Given the description of an element on the screen output the (x, y) to click on. 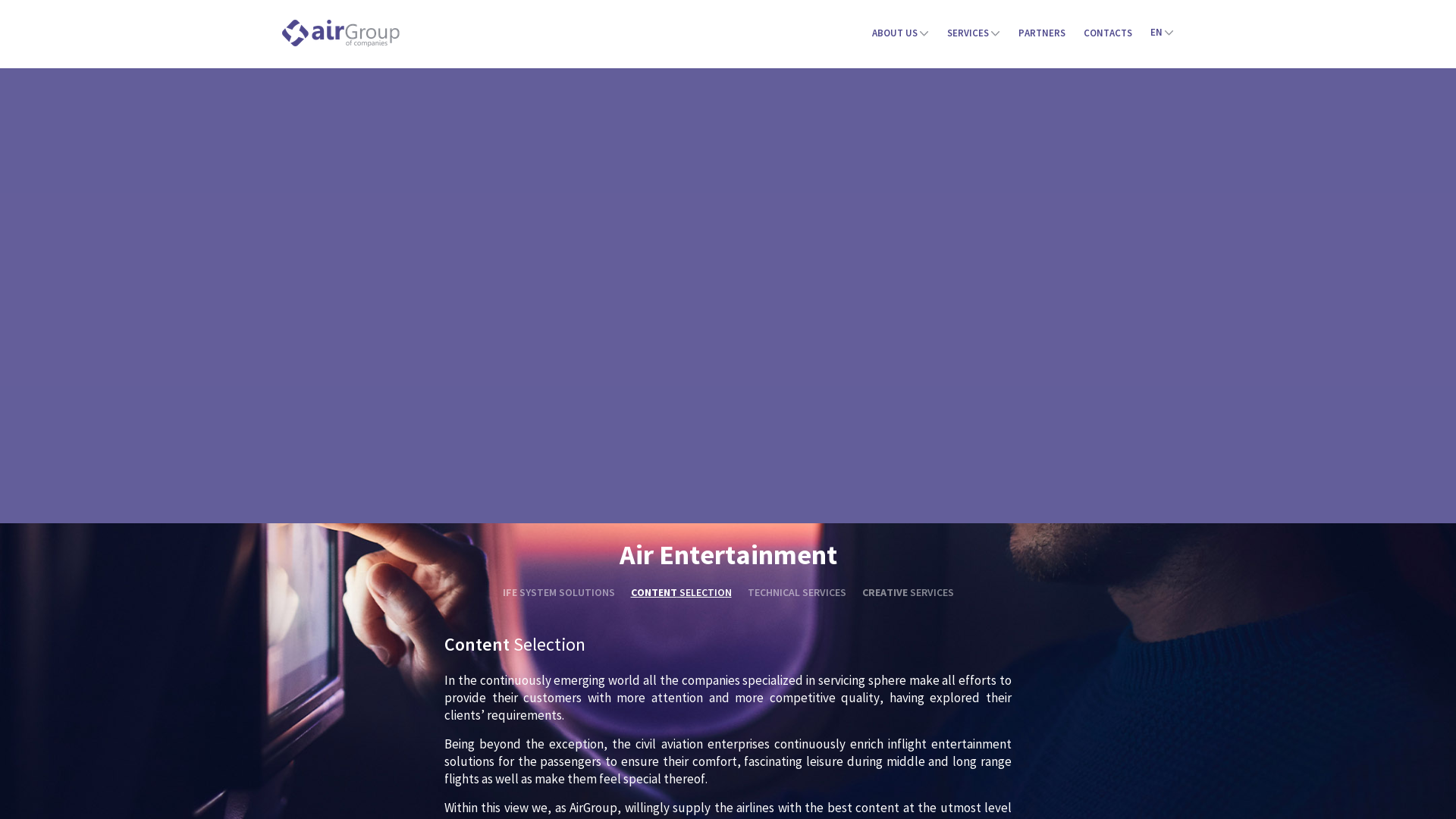
IFE SYSTEM SOLUTIONS Element type: text (558, 591)
CONTACTS Element type: text (1107, 34)
SERVICES Element type: text (973, 34)
ABOUT US Element type: text (900, 34)
PARTNERS Element type: text (1041, 34)
TECHNICAL SERVICES Element type: text (796, 591)
CONTENT SELECTION Element type: text (680, 591)
CREATIVE SERVICES Element type: text (907, 591)
